Given the description of an element on the screen output the (x, y) to click on. 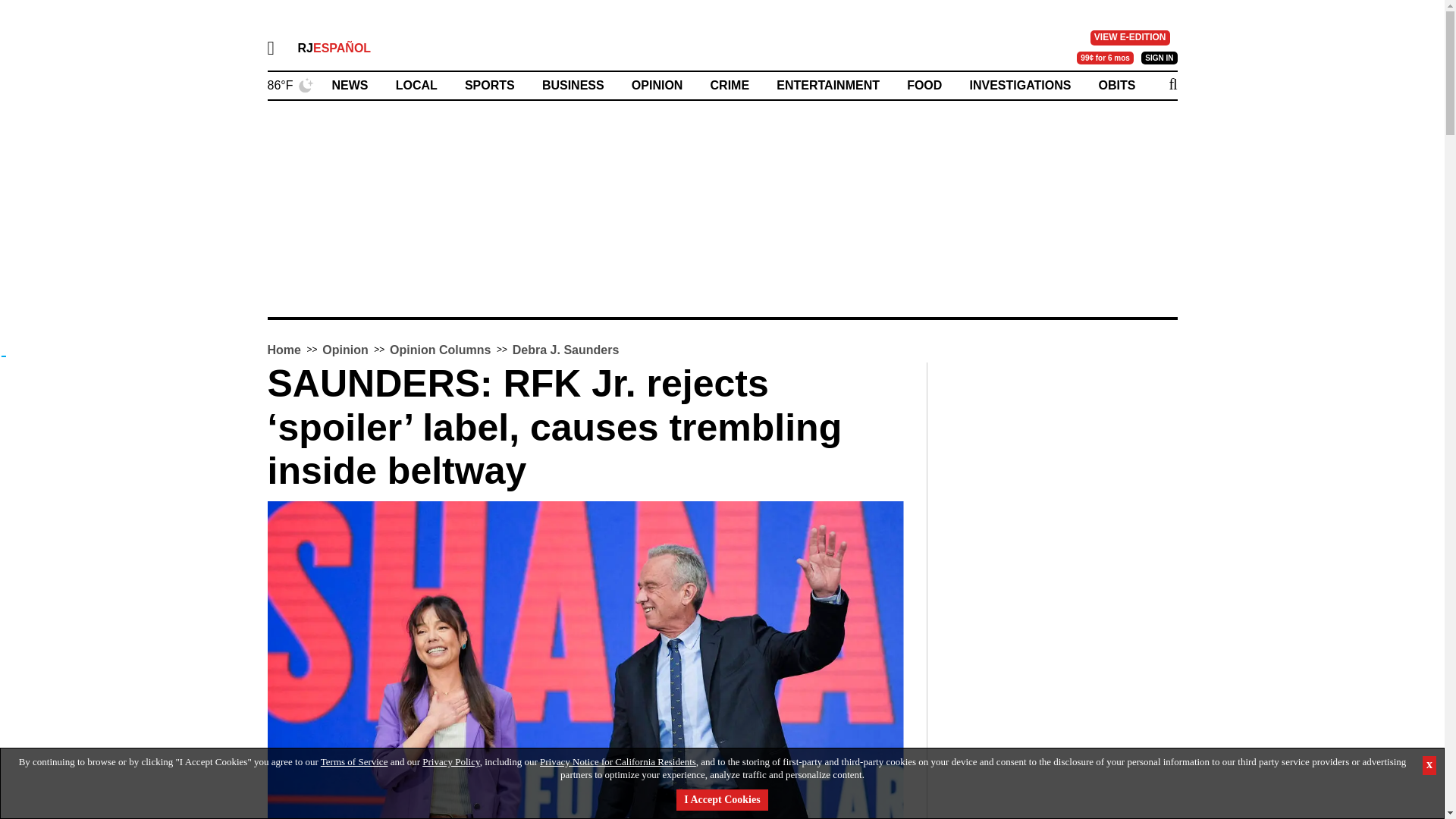
BUSINESS (572, 84)
SPORTS (489, 84)
FOOD (924, 84)
SIGN IN (1158, 58)
OBITS (1117, 84)
OPINION (656, 84)
NEWS (349, 84)
Weather Forecast (290, 83)
VIEW E-EDITION (1130, 37)
LOCAL (417, 84)
